Given the description of an element on the screen output the (x, y) to click on. 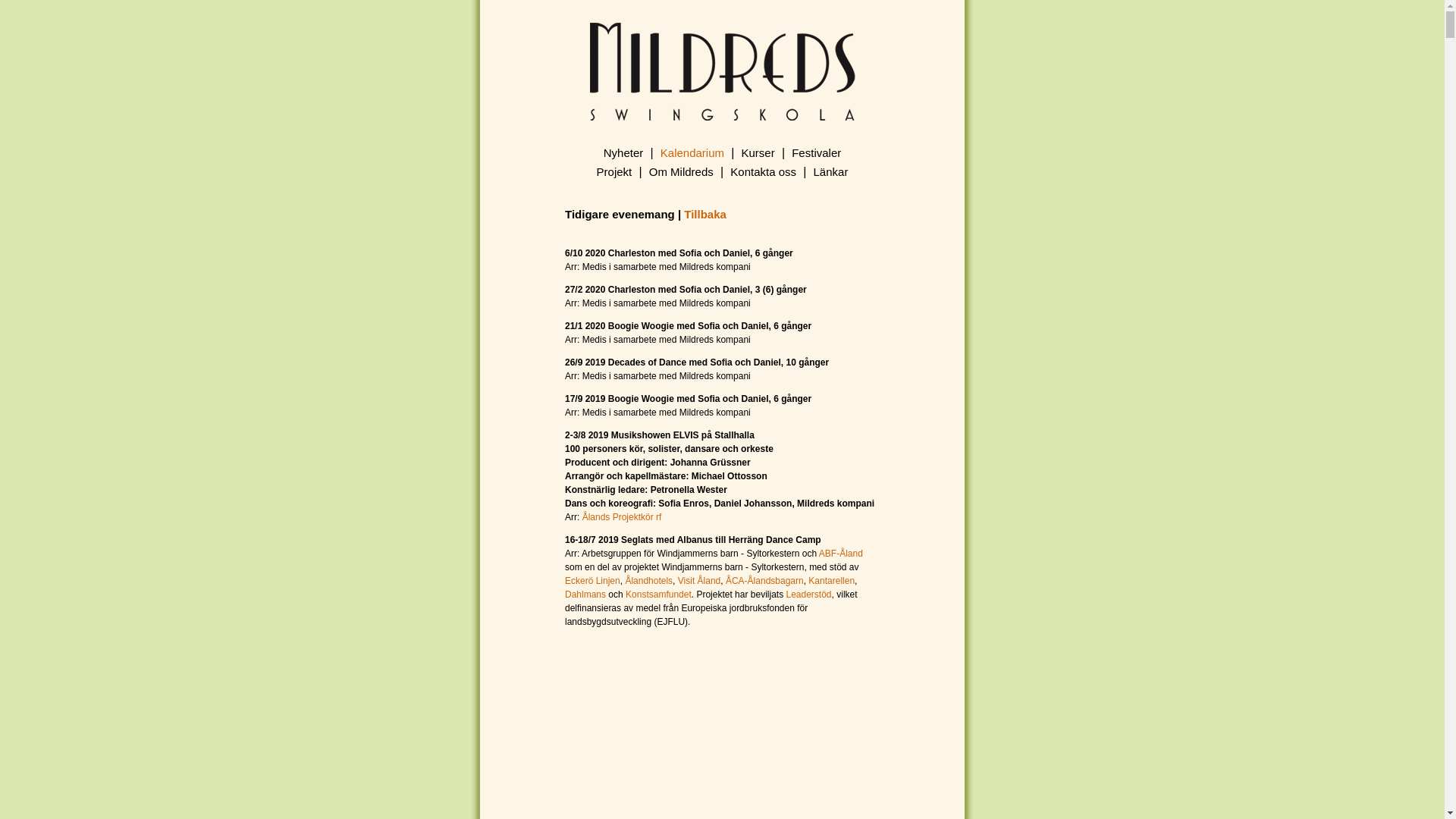
Festivaler Element type: text (815, 152)
Tillbaka Element type: text (705, 213)
Om Mildreds Element type: text (681, 171)
Kurser Element type: text (758, 152)
Dahlmans Element type: text (584, 594)
Kontakta oss Element type: text (763, 171)
Nyheter Element type: text (623, 152)
Kantarellen Element type: text (830, 580)
Konstsamfundet Element type: text (658, 594)
Kalendarium Element type: text (692, 152)
Projekt Element type: text (614, 171)
